Given the description of an element on the screen output the (x, y) to click on. 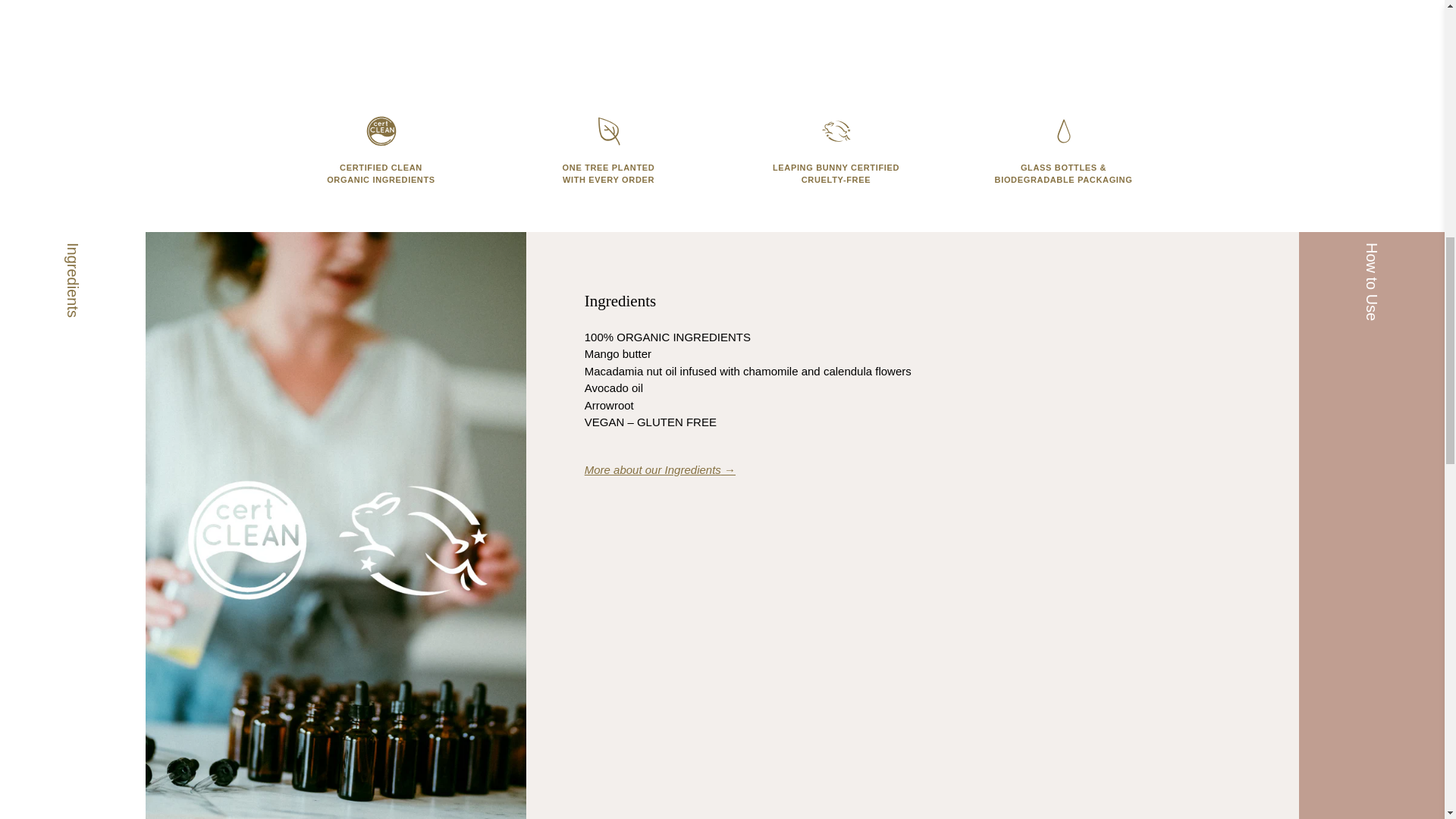
AE (1217, 85)
SE (1217, 7)
US (1217, 178)
GB (1217, 135)
CH (1217, 36)
Ingredients (660, 469)
